Given the description of an element on the screen output the (x, y) to click on. 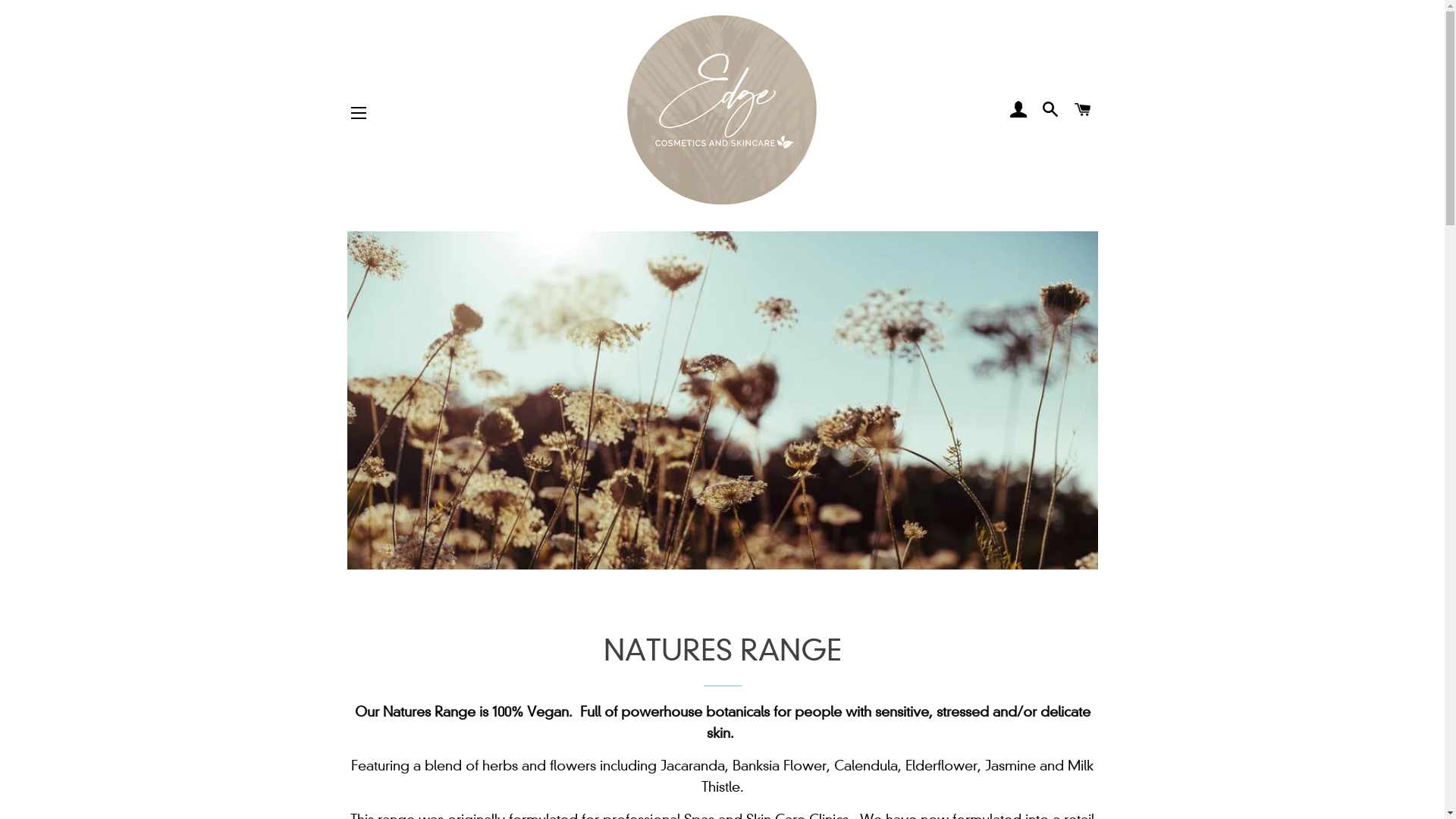
LOG IN Element type: text (1018, 109)
SEARCH Element type: text (1050, 109)
CART Element type: text (1082, 109)
SITE NAVIGATION Element type: text (358, 112)
